Given the description of an element on the screen output the (x, y) to click on. 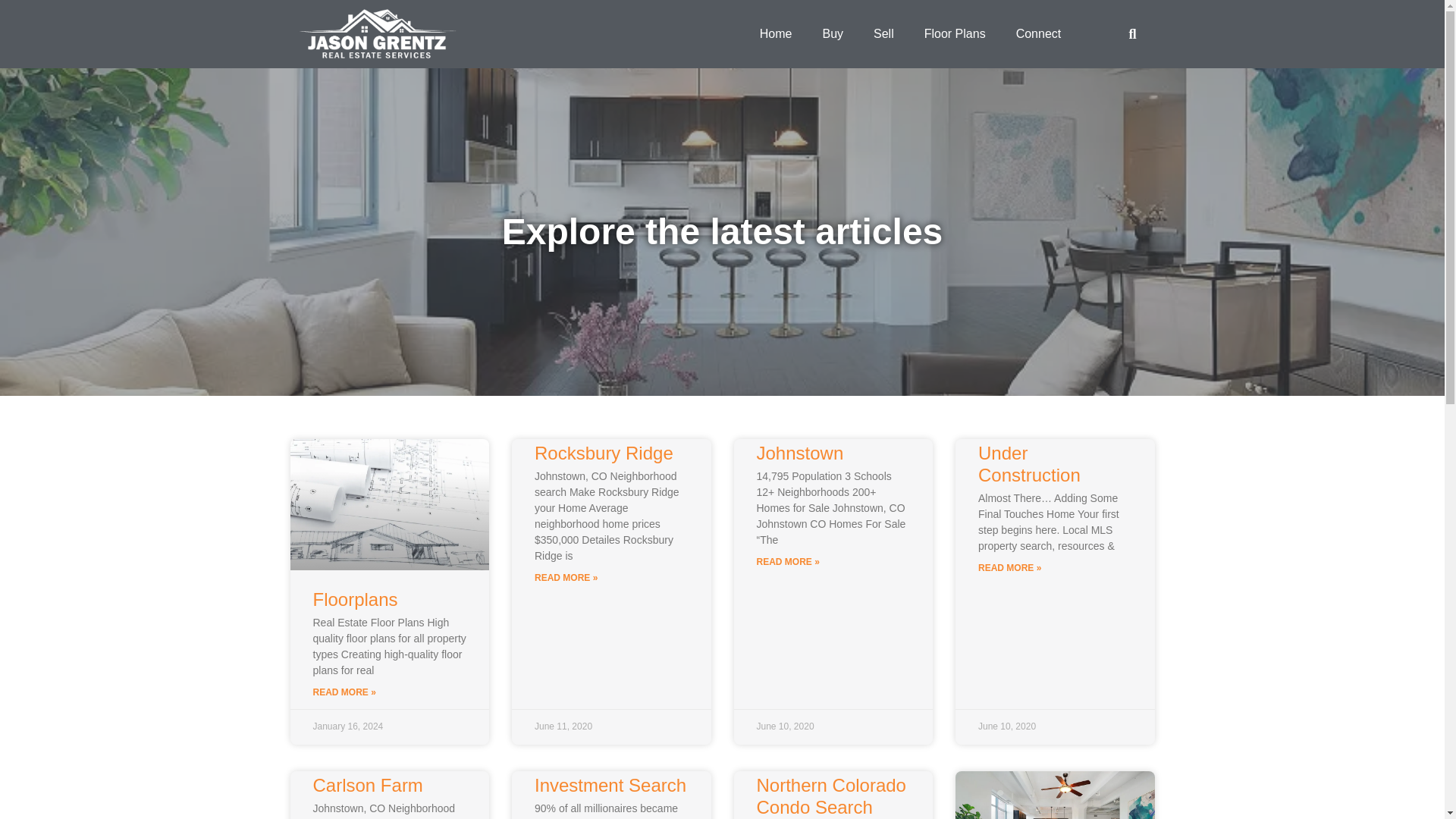
Carlson Farm (367, 784)
Buy (832, 33)
Home (776, 33)
Northern Colorado Condo Search (831, 795)
Investment Search (609, 784)
Johnstown (800, 453)
Sell (883, 33)
Under Construction (1029, 464)
Connect (1039, 33)
Rocksbury Ridge (603, 453)
